Given the description of an element on the screen output the (x, y) to click on. 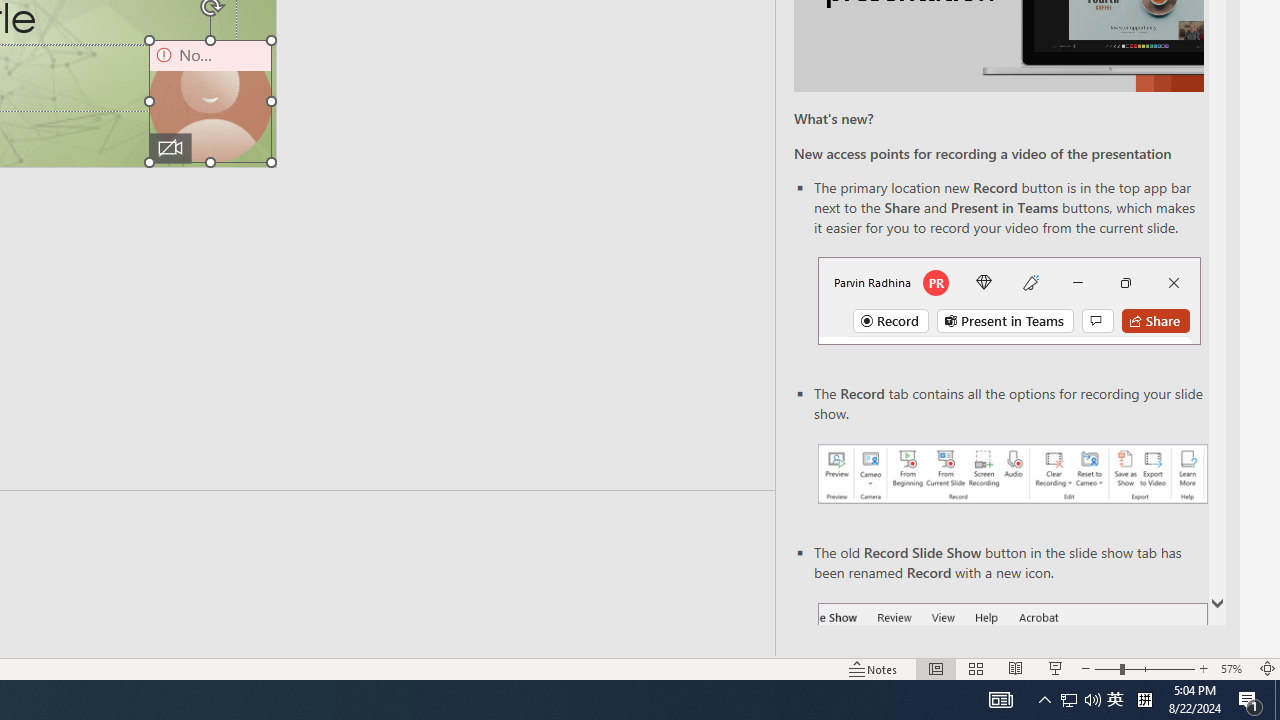
Zoom 57% (1234, 668)
Record your presentations screenshot one (1012, 473)
Record button in top bar (1008, 300)
